Given the description of an element on the screen output the (x, y) to click on. 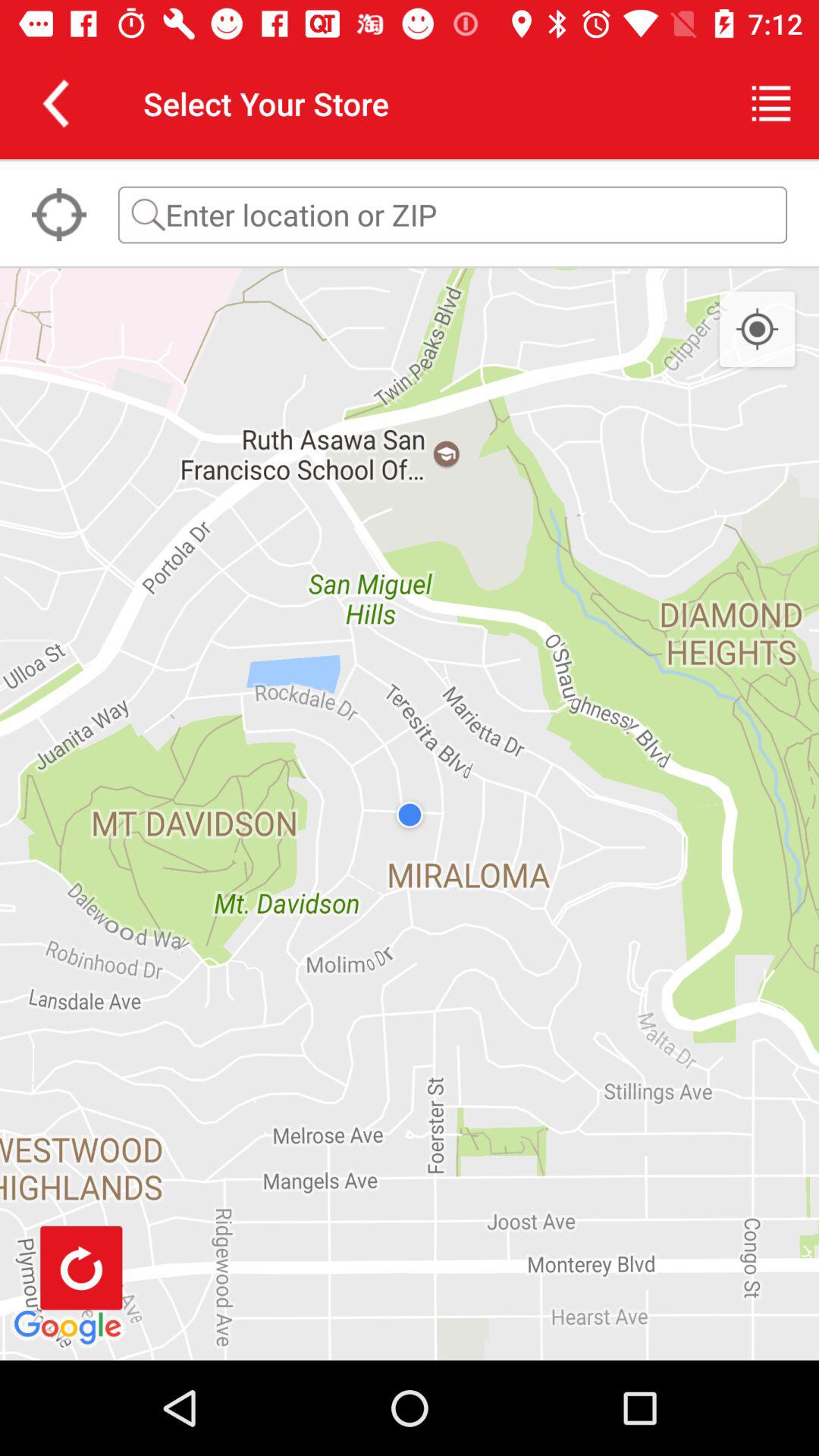
press the item to the left of the select your store icon (55, 103)
